Given the description of an element on the screen output the (x, y) to click on. 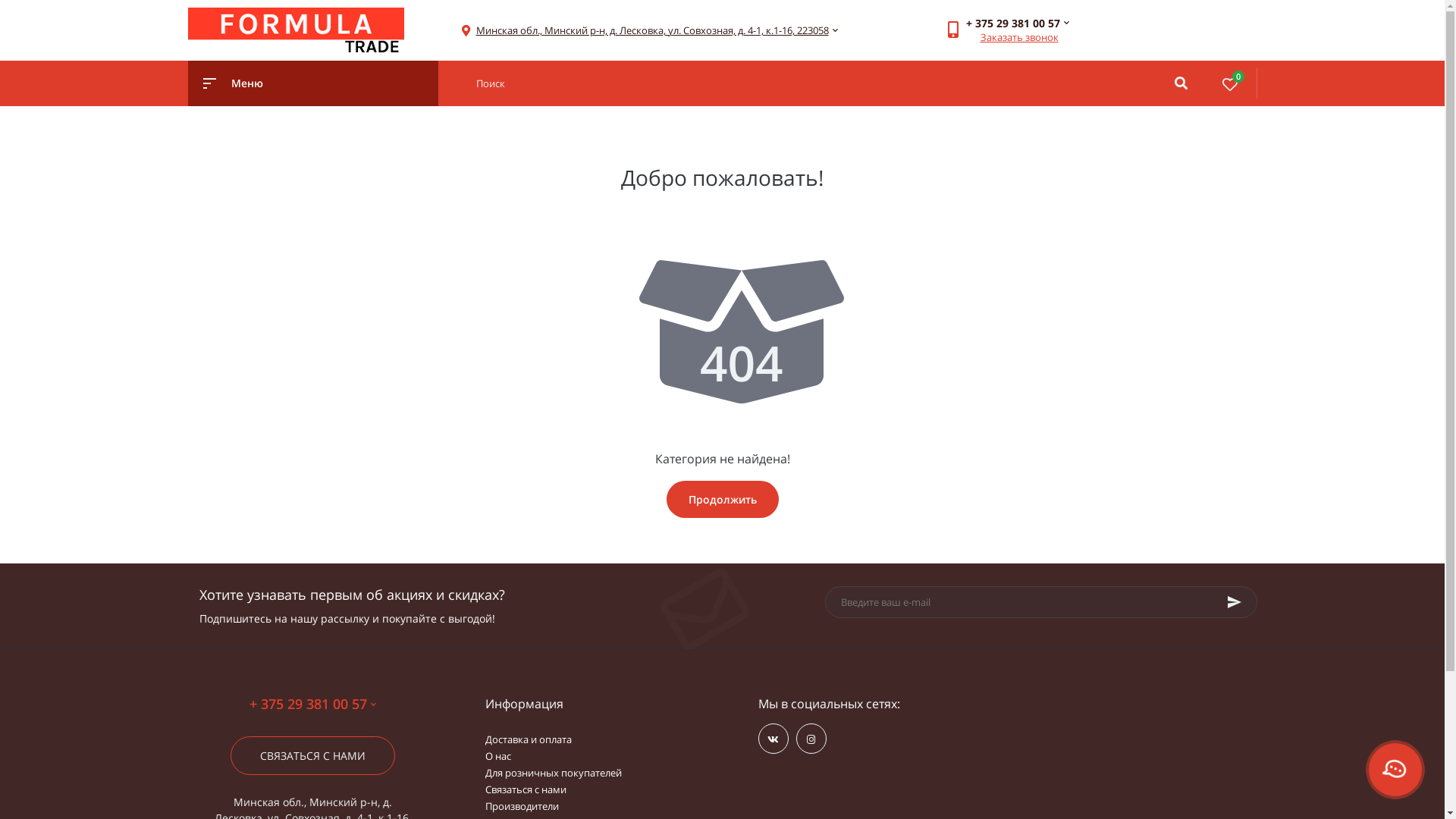
0 Element type: text (1229, 83)
+ 375 29 381 00 57 Element type: text (312, 703)
